Given the description of an element on the screen output the (x, y) to click on. 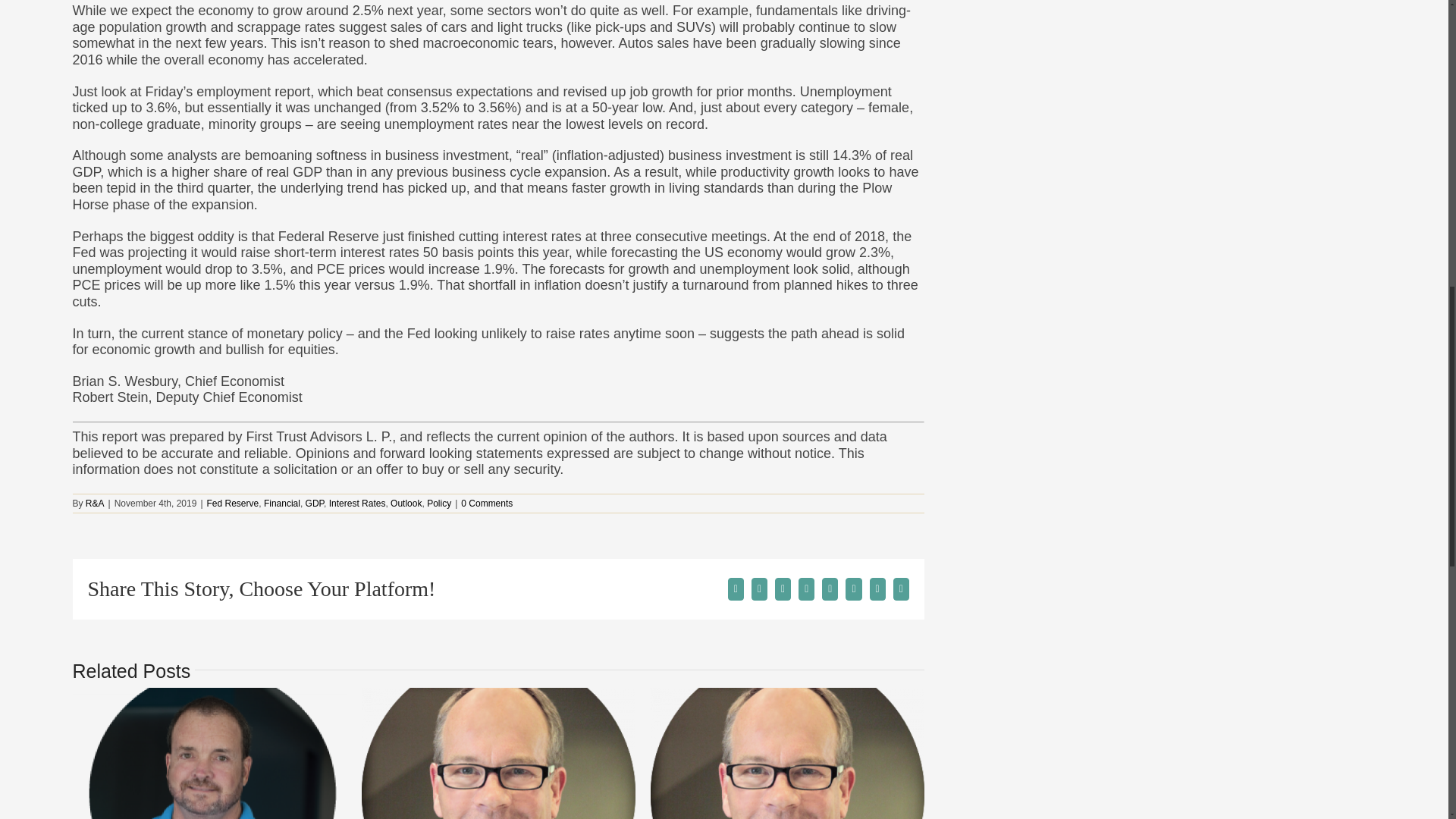
LinkedIn (805, 589)
Reddit (782, 589)
Interest Rates (357, 502)
Outlook (406, 502)
Policy (438, 502)
Twitter (759, 589)
Facebook (736, 589)
Pinterest (853, 589)
Fed Reserve (232, 502)
Vk (877, 589)
Financial (281, 502)
GDP (314, 502)
Tumblr (830, 589)
Email (900, 589)
0 Comments (486, 502)
